Given the description of an element on the screen output the (x, y) to click on. 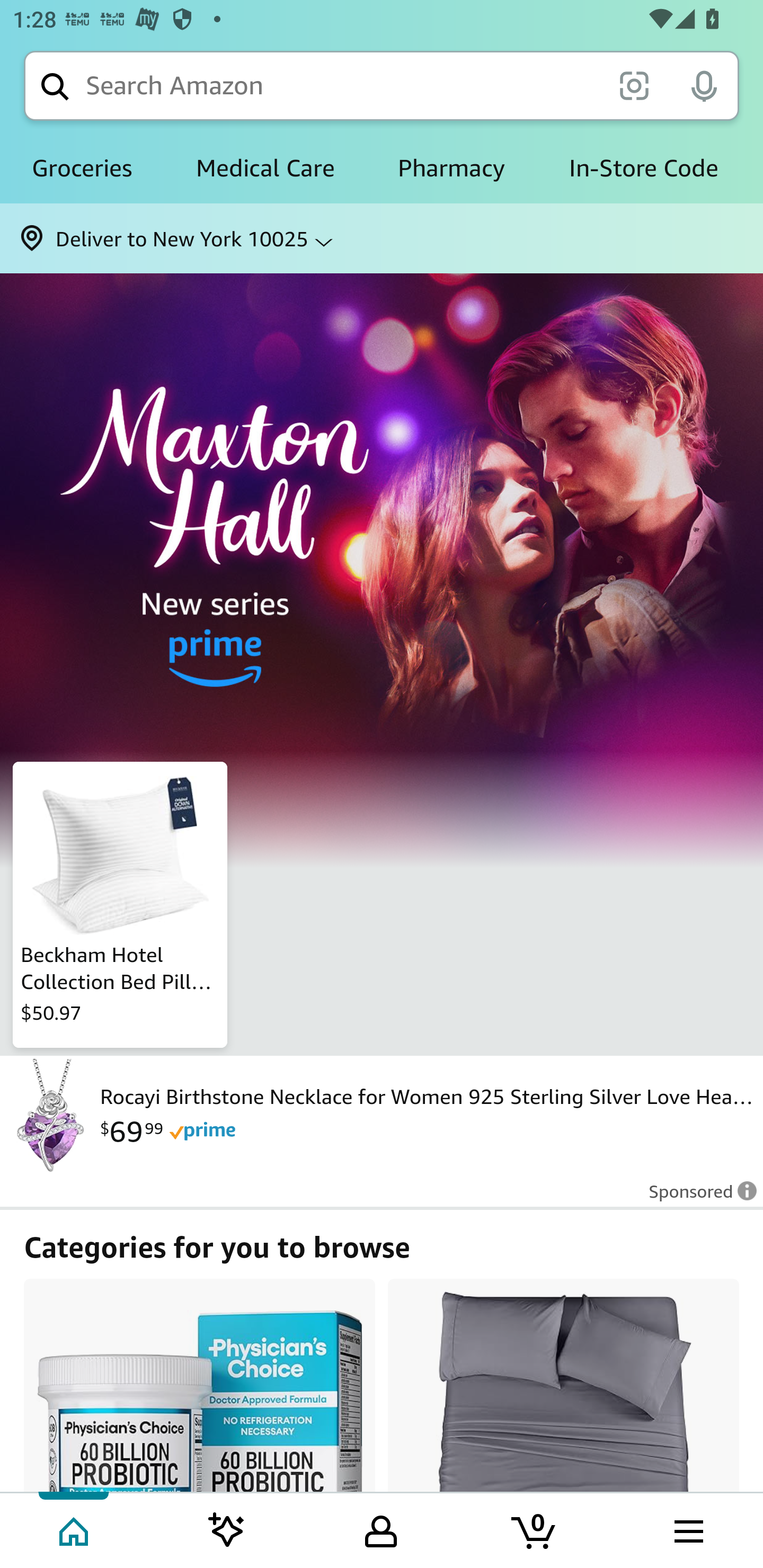
scan it (633, 85)
Groceries (82, 168)
Medical Care (265, 168)
Pharmacy (451, 168)
In-Store Code (643, 168)
Deliver to New York 10025 ⌵ (381, 237)
Leave feedback on Sponsored ad Sponsored  (696, 1196)
Home Tab 1 of 5 (75, 1529)
Inspire feed Tab 2 of 5 (227, 1529)
Your Amazon.com Tab 3 of 5 (380, 1529)
Cart 0 item Tab 4 of 5 0 (534, 1529)
Browse menu Tab 5 of 5 (687, 1529)
